Given the description of an element on the screen output the (x, y) to click on. 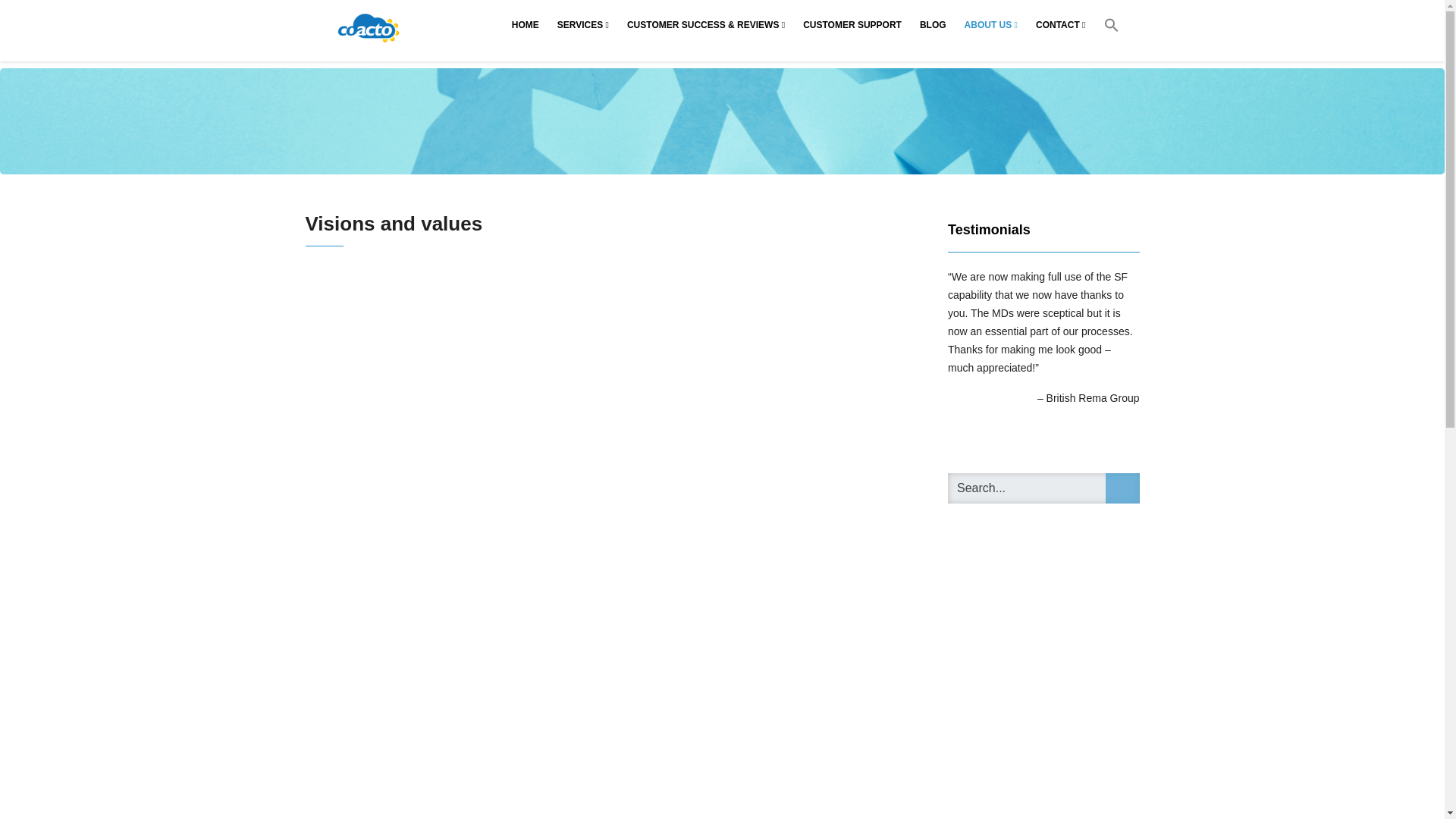
Search for: (1043, 488)
BLOG (933, 24)
HOME (525, 24)
SERVICES (582, 24)
CUSTOMER SUPPORT (852, 24)
ABOUT US (990, 24)
